Given the description of an element on the screen output the (x, y) to click on. 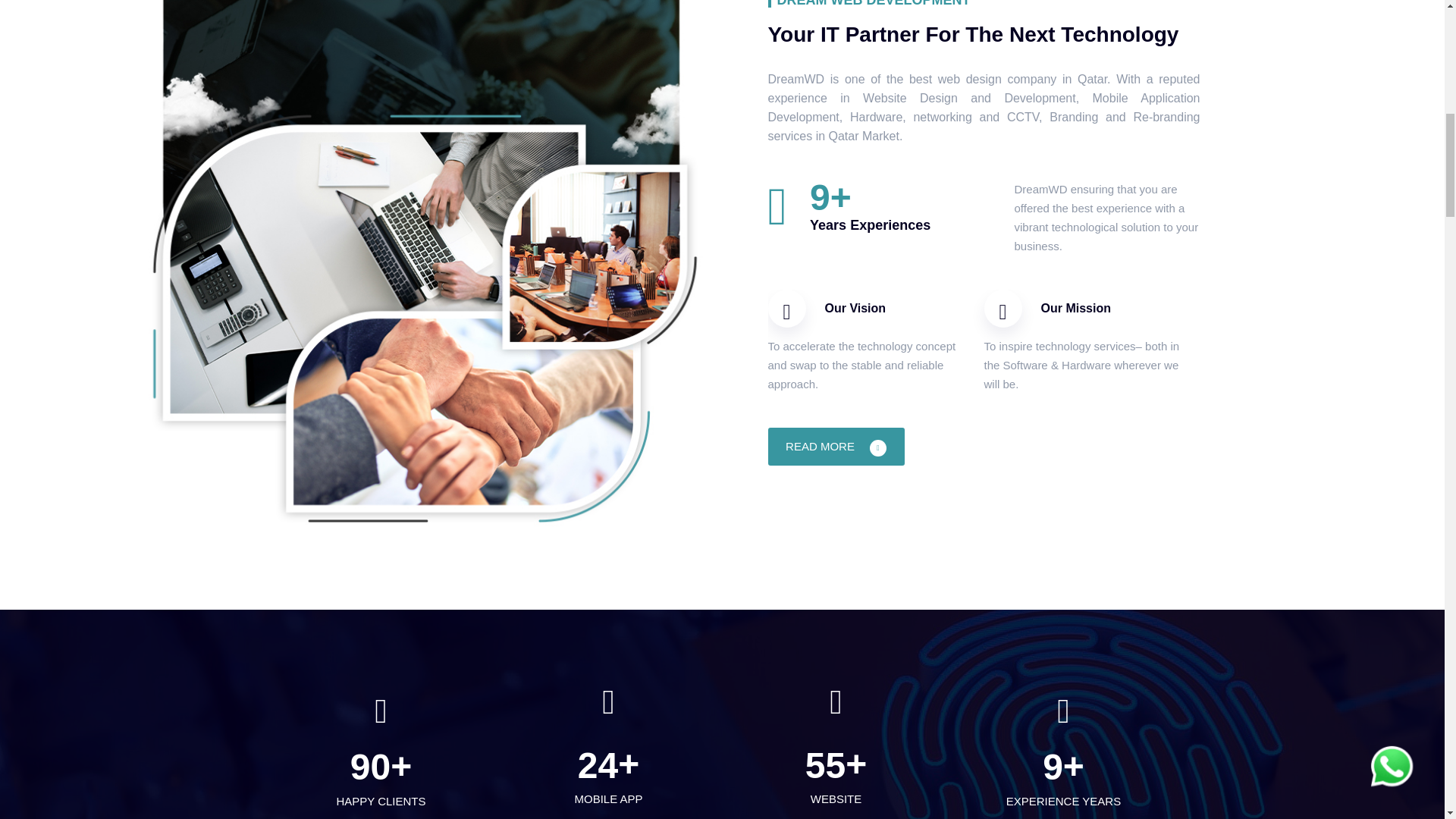
READ MORE (835, 446)
